Given the description of an element on the screen output the (x, y) to click on. 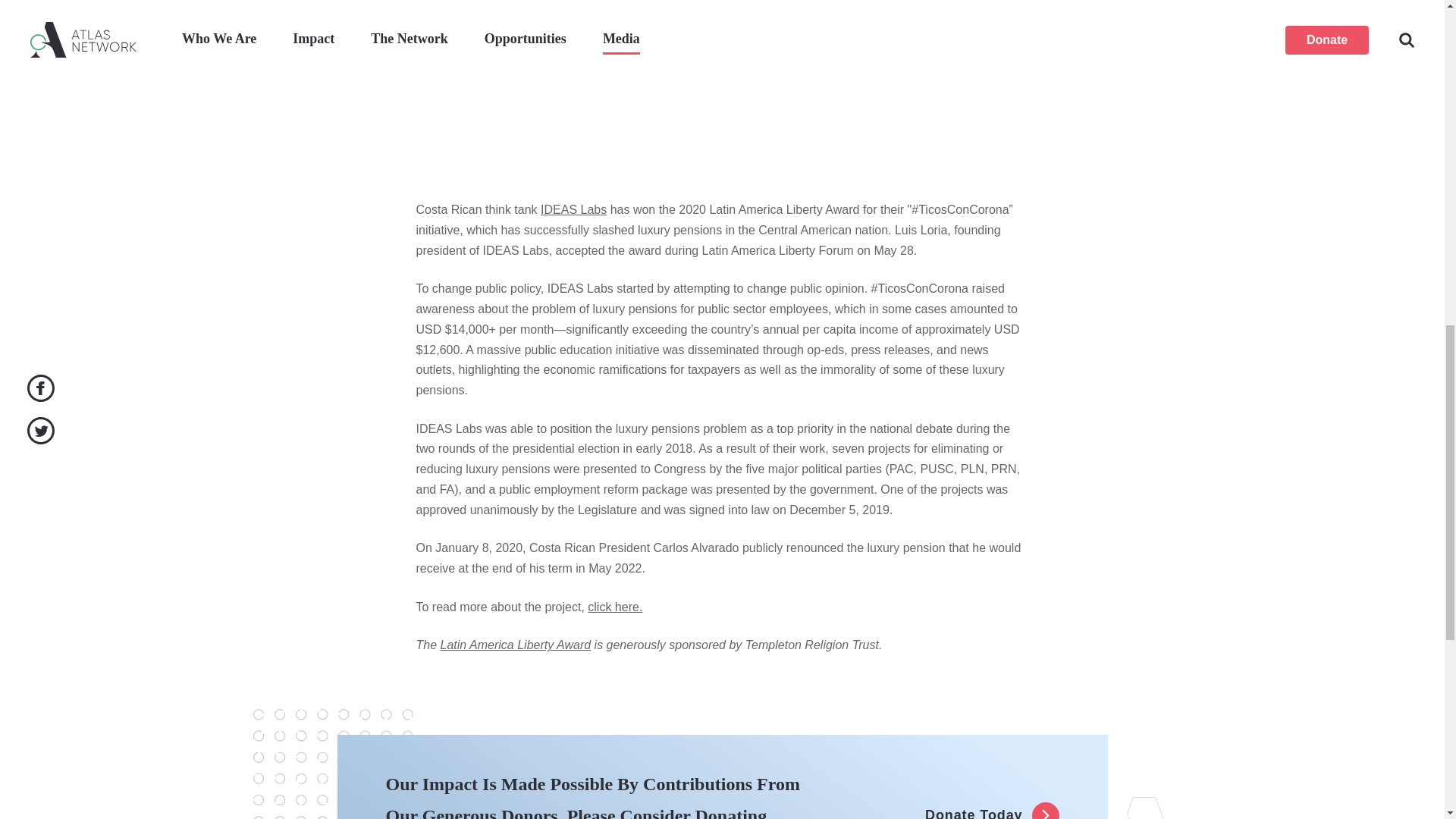
Latin America Liberty Award (516, 644)
IDEAS Labs (573, 209)
click here. (615, 606)
